Given the description of an element on the screen output the (x, y) to click on. 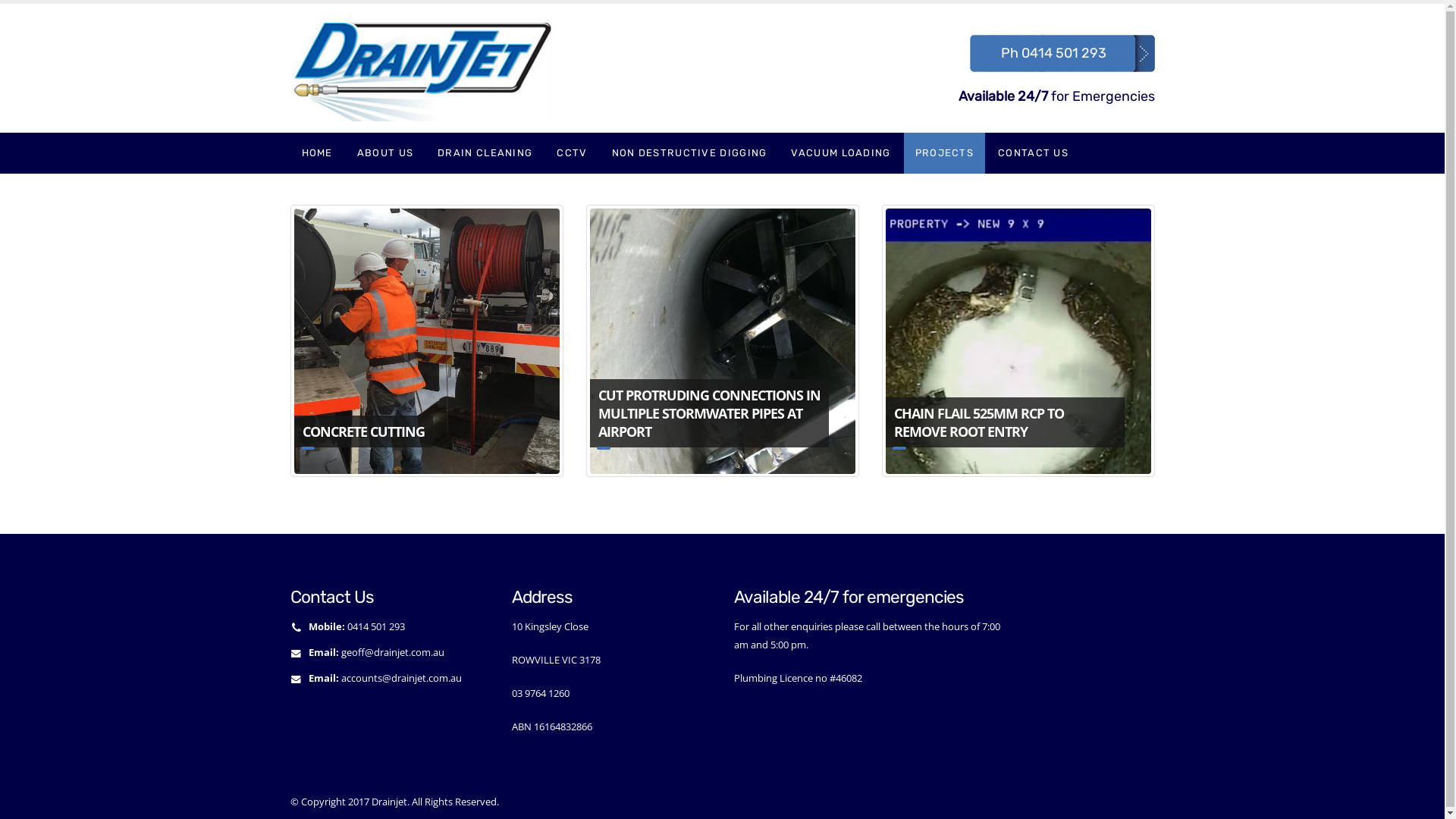
accounts@drainjet.com.au Element type: text (401, 677)
DRAIN CLEANING Element type: text (484, 152)
Home Element type: hover (427, 66)
Ph 0414 501 293 Element type: text (1053, 52)
VACUUM LOADING Element type: text (840, 152)
ABOUT US Element type: text (384, 152)
HOME Element type: text (316, 152)
geoff@drainjet.com.au Element type: text (392, 652)
NON DESTRUCTIVE DIGGING Element type: text (689, 152)
CHAIN FLAIL 525MM RCP TO REMOVE ROOT ENTRY Element type: text (1017, 340)
CONCRETE CUTTING Element type: text (425, 340)
CCTV Element type: text (571, 152)
CONTACT US Element type: text (1032, 152)
PROJECTS Element type: text (944, 152)
